Given the description of an element on the screen output the (x, y) to click on. 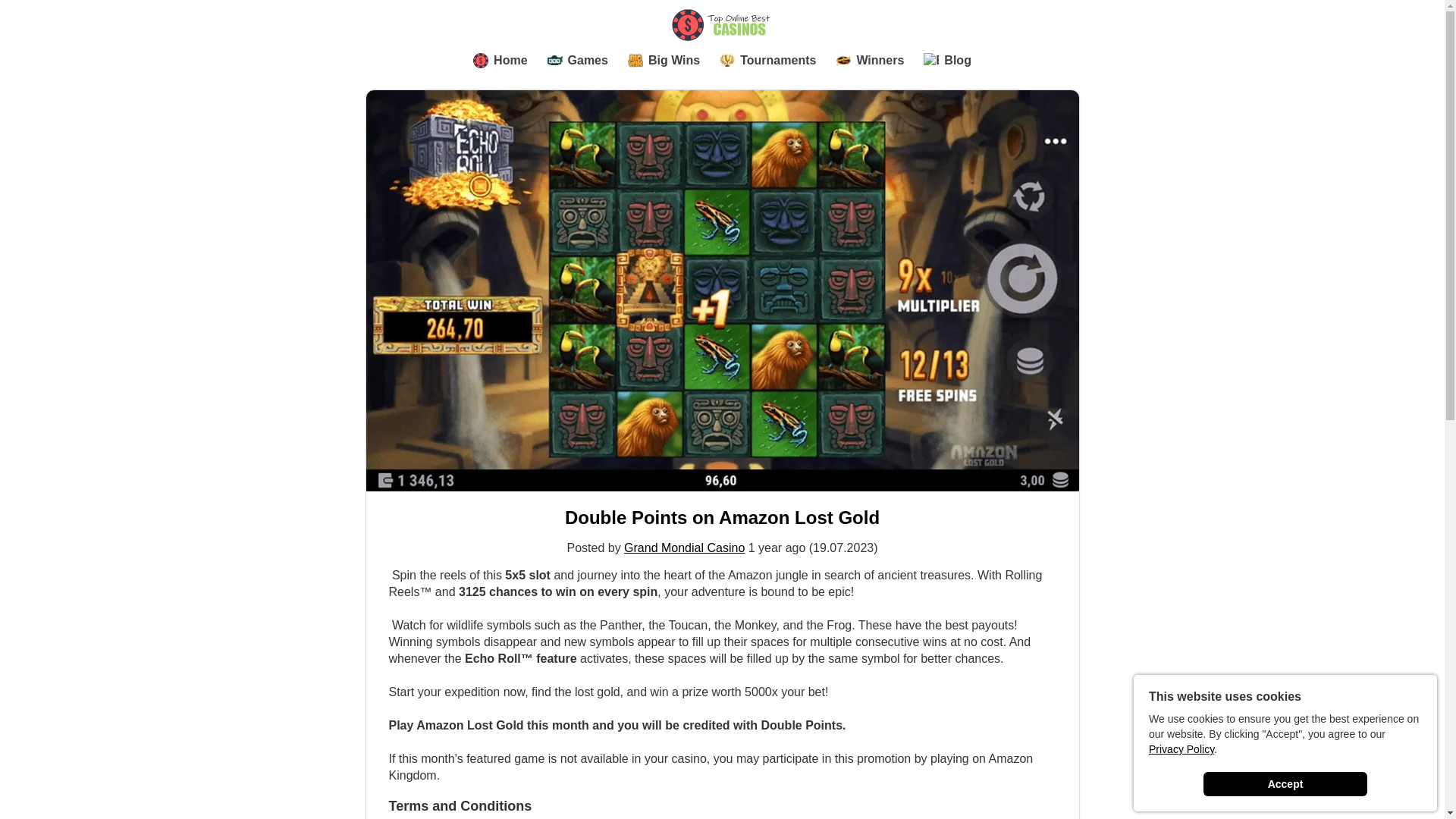
Privacy Policy (1181, 748)
Double Points on Amazon Lost Gold (721, 516)
Tournaments (767, 61)
Blog (946, 61)
Double Points on Amazon Lost Gold Site (721, 516)
Online Casino Tournaments (767, 61)
Winners (869, 61)
Online Casino Demo Games (577, 61)
Games (577, 61)
Grand Mondial Casino (684, 547)
Wildsbet Blog (946, 61)
Grand Mondial Casino (684, 547)
Home page (499, 61)
Big Wins (663, 61)
Slots Big Wins Pictures (663, 61)
